Given the description of an element on the screen output the (x, y) to click on. 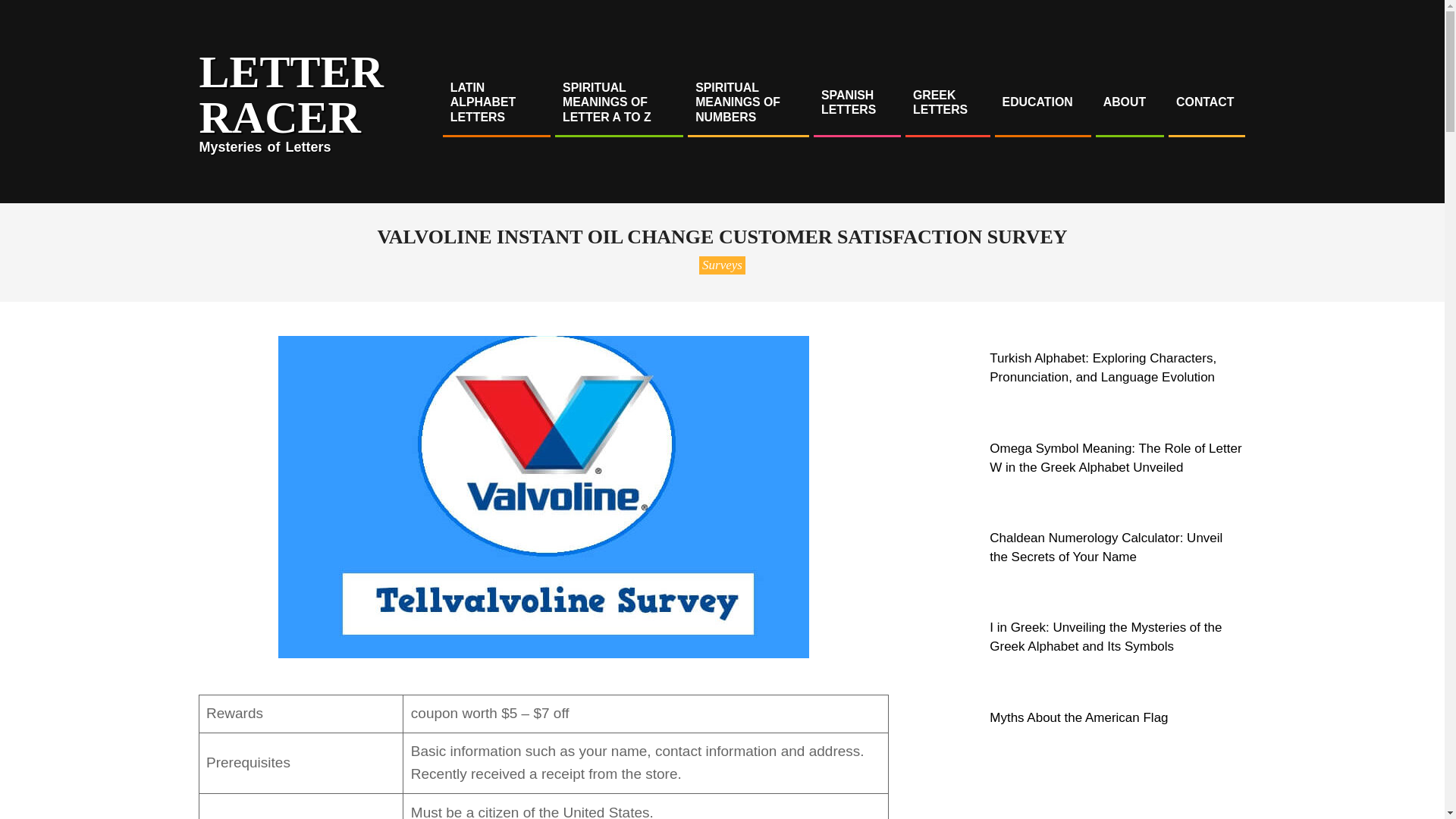
Surveys (721, 265)
CONTACT (1204, 101)
GREEK LETTERS (946, 102)
Myths About the American Flag (1078, 717)
ABOUT (1128, 101)
SPANISH LETTERS (855, 102)
EDUCATION (1041, 101)
